Given the description of an element on the screen output the (x, y) to click on. 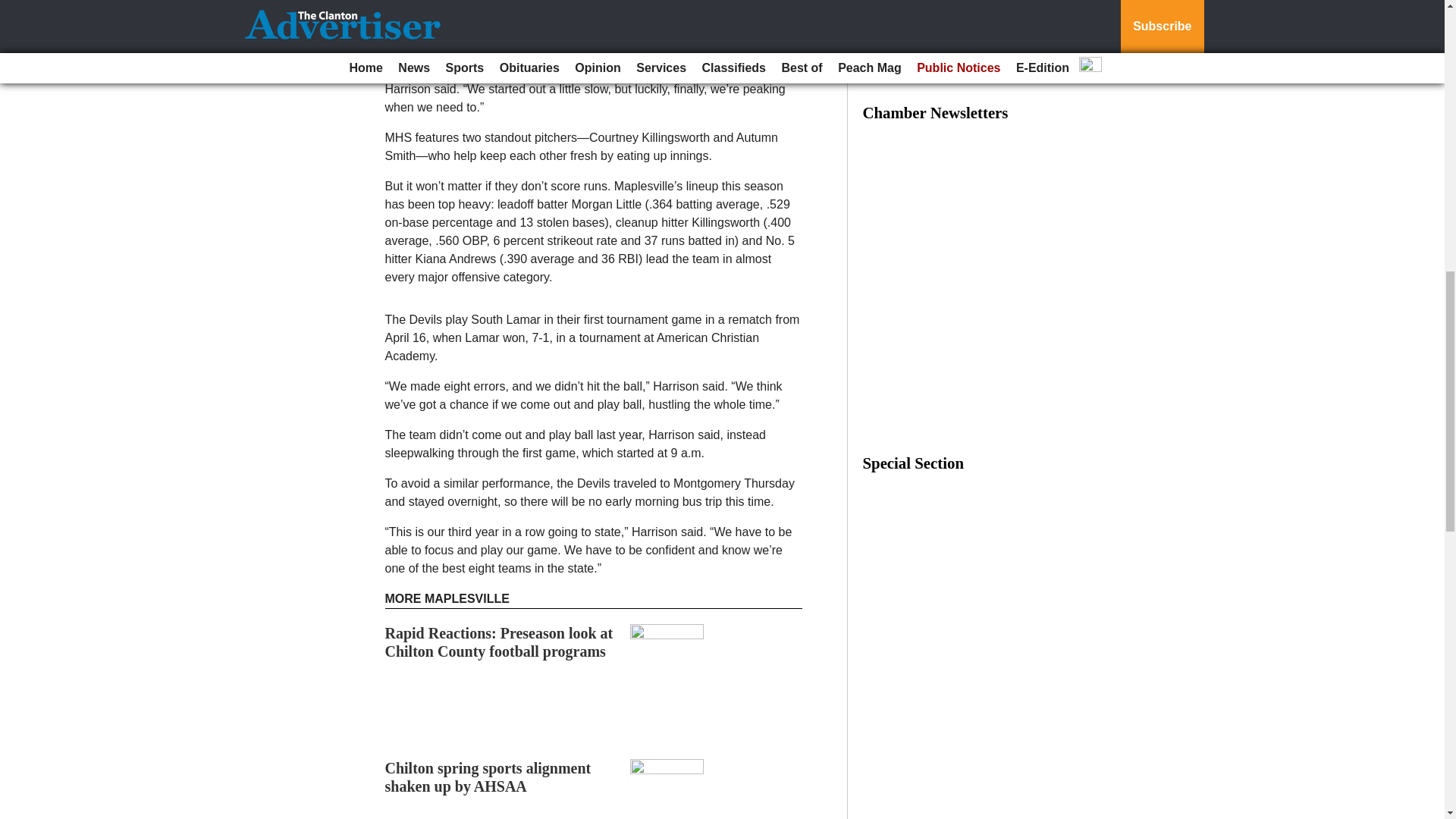
Chilton spring sports alignment shaken up by AHSAA (488, 777)
Chilton spring sports alignment shaken up by AHSAA (488, 777)
